Given the description of an element on the screen output the (x, y) to click on. 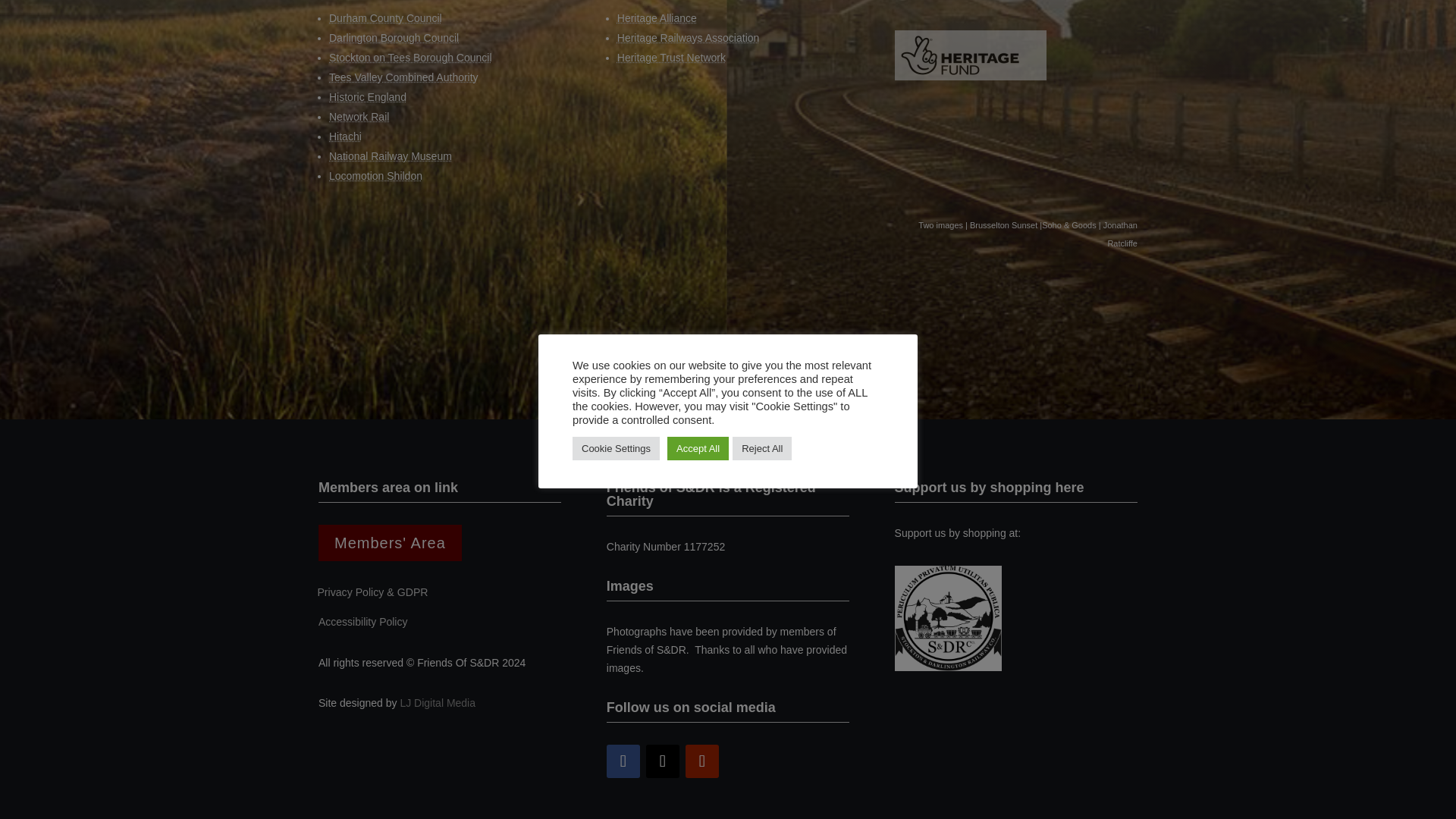
Follow on Facebook (623, 761)
Follow on X (662, 761)
Follow on Youtube (702, 761)
